Given the description of an element on the screen output the (x, y) to click on. 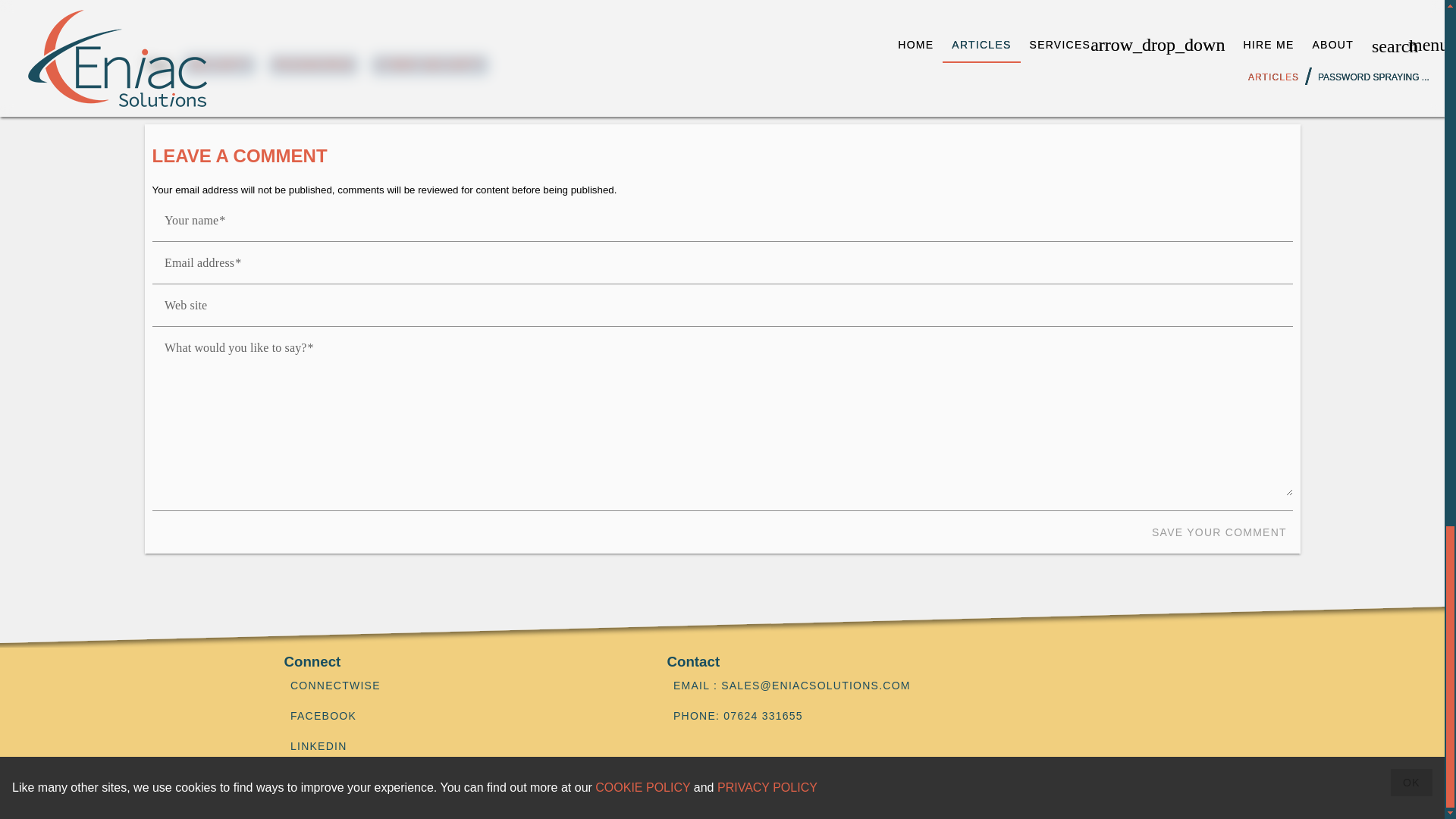
Remote Support Login (456, 685)
Connect with us on LinkedIn (456, 746)
Connect with us at Facebook (456, 716)
CONNECTWISE (456, 685)
LINKEDIN (456, 746)
SAVE YOUR COMMENT (1218, 532)
SECURITY (219, 64)
Call us by phone on 07624 331655 (913, 716)
CYBER SECURITY (430, 64)
FACEBOOK (456, 716)
